Given the description of an element on the screen output the (x, y) to click on. 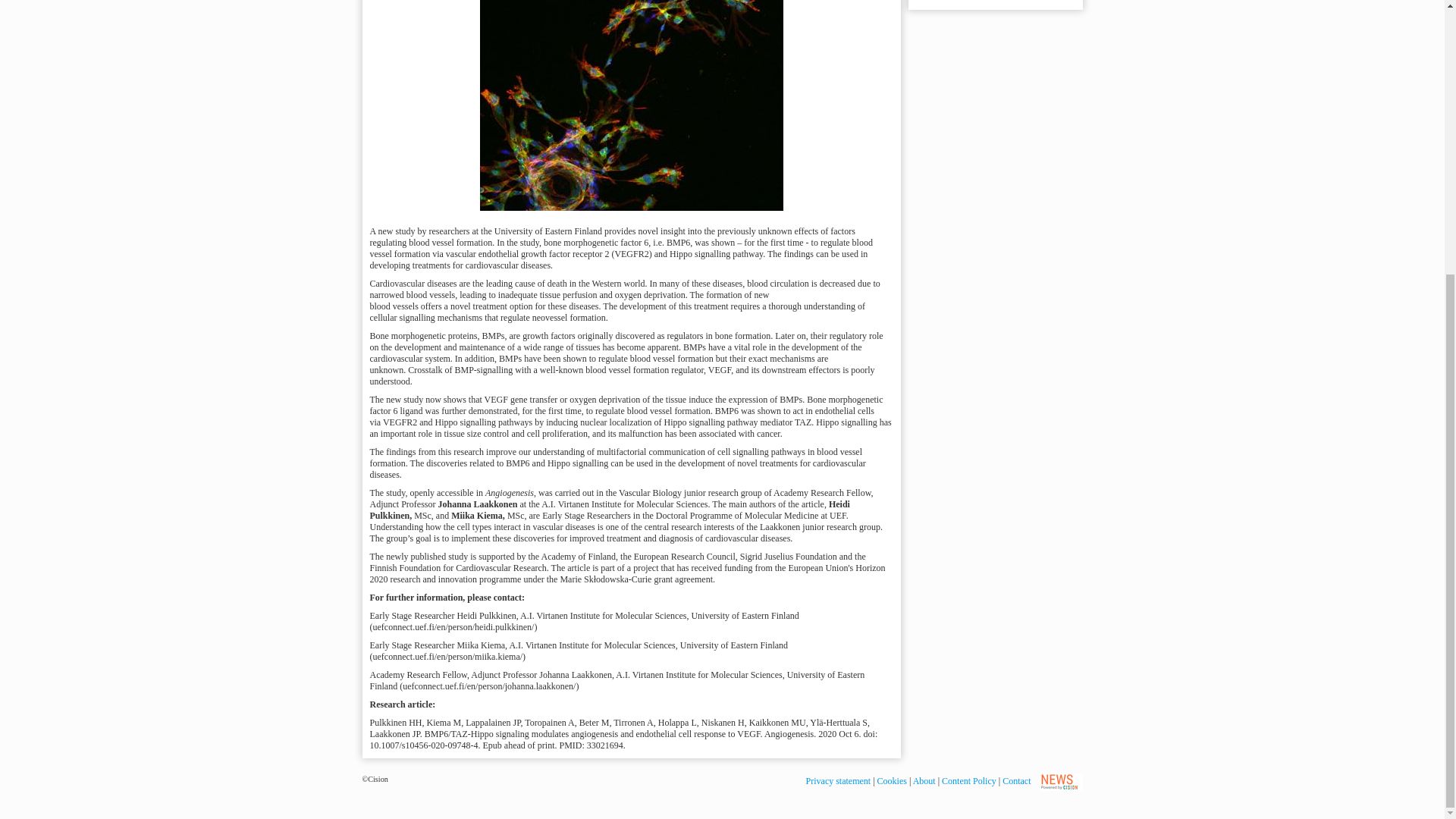
Content Policy (968, 780)
Contact (1016, 780)
Privacy statement (838, 780)
About (924, 780)
Cookies (892, 780)
